Given the description of an element on the screen output the (x, y) to click on. 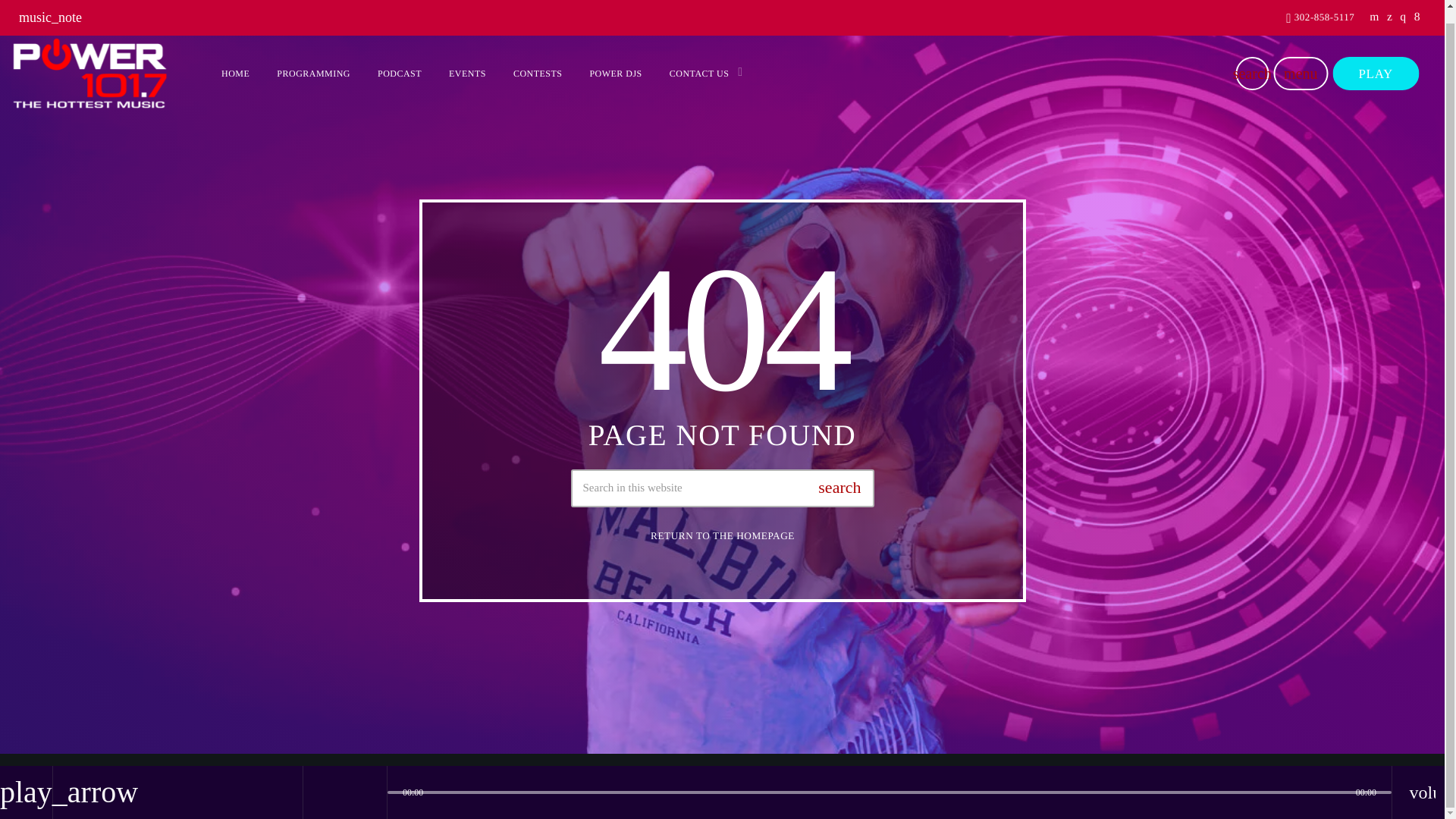
302-858-5117 (1320, 5)
EVENTS (467, 60)
PODCAST (399, 60)
POWER DJS (615, 60)
CONTACT US (700, 60)
CONTESTS (537, 60)
search (1251, 60)
PLAY (1375, 60)
PROGRAMMING (313, 60)
menu (1299, 60)
